Given the description of an element on the screen output the (x, y) to click on. 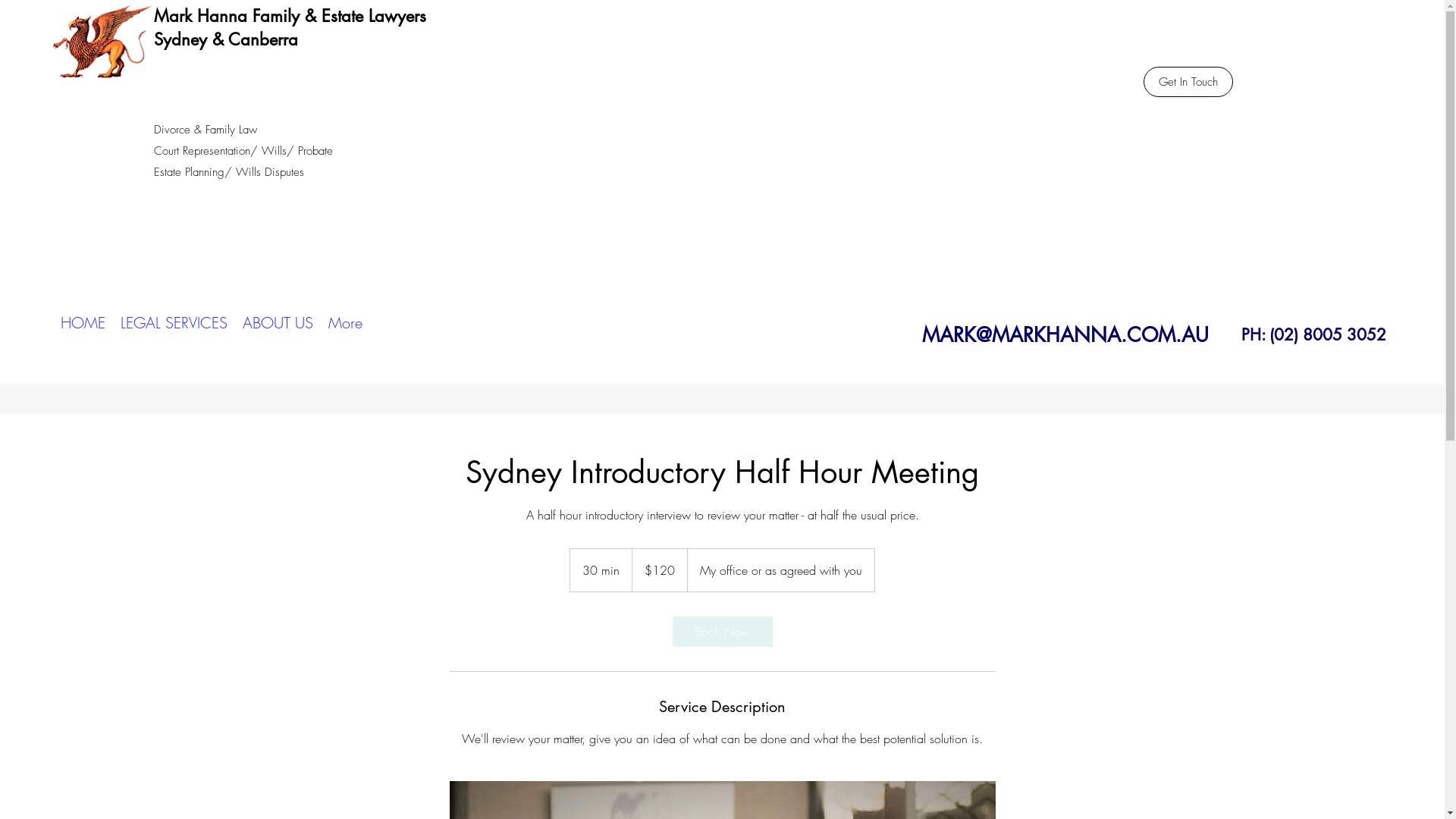
MARK@MARKHANNA.COM.AU Element type: text (1065, 335)
Sydney & Canberra Element type: text (225, 39)
Get In Touch Element type: text (1188, 81)
Book Now Element type: text (721, 631)
Mark Hanna Family & Estate Lawyers Element type: text (289, 15)
LEGAL SERVICES Element type: text (173, 322)
HOME Element type: text (82, 322)
ABOUT US Element type: text (277, 322)
